Given the description of an element on the screen output the (x, y) to click on. 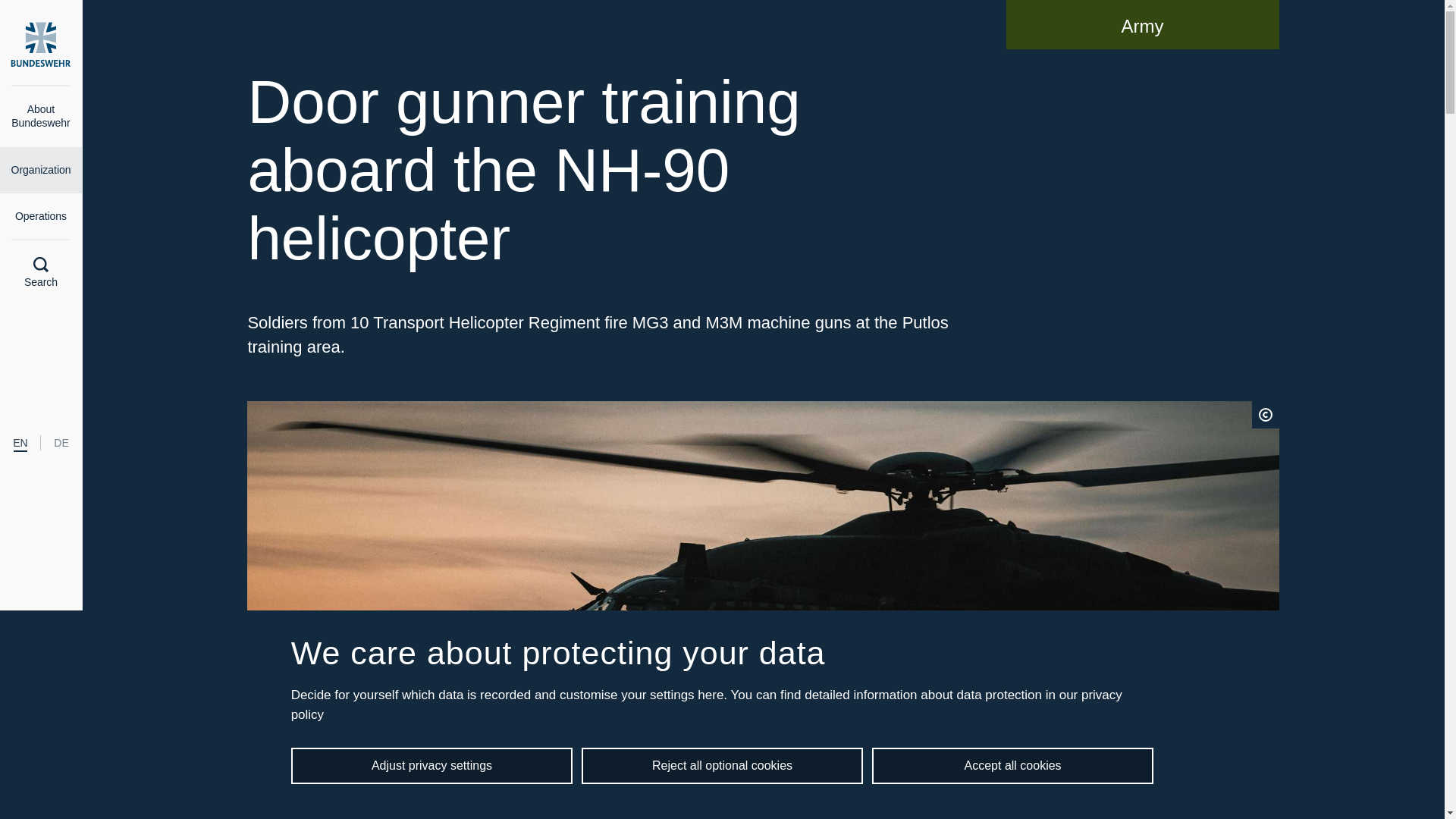
NATO-Helicopter (598, 170)
German (60, 442)
About Bundeswehr (40, 116)
Organization (40, 170)
Logo Bundeswehr - Go to homepage (40, 44)
English (20, 442)
Operations (40, 216)
Search (40, 273)
